Given the description of an element on the screen output the (x, y) to click on. 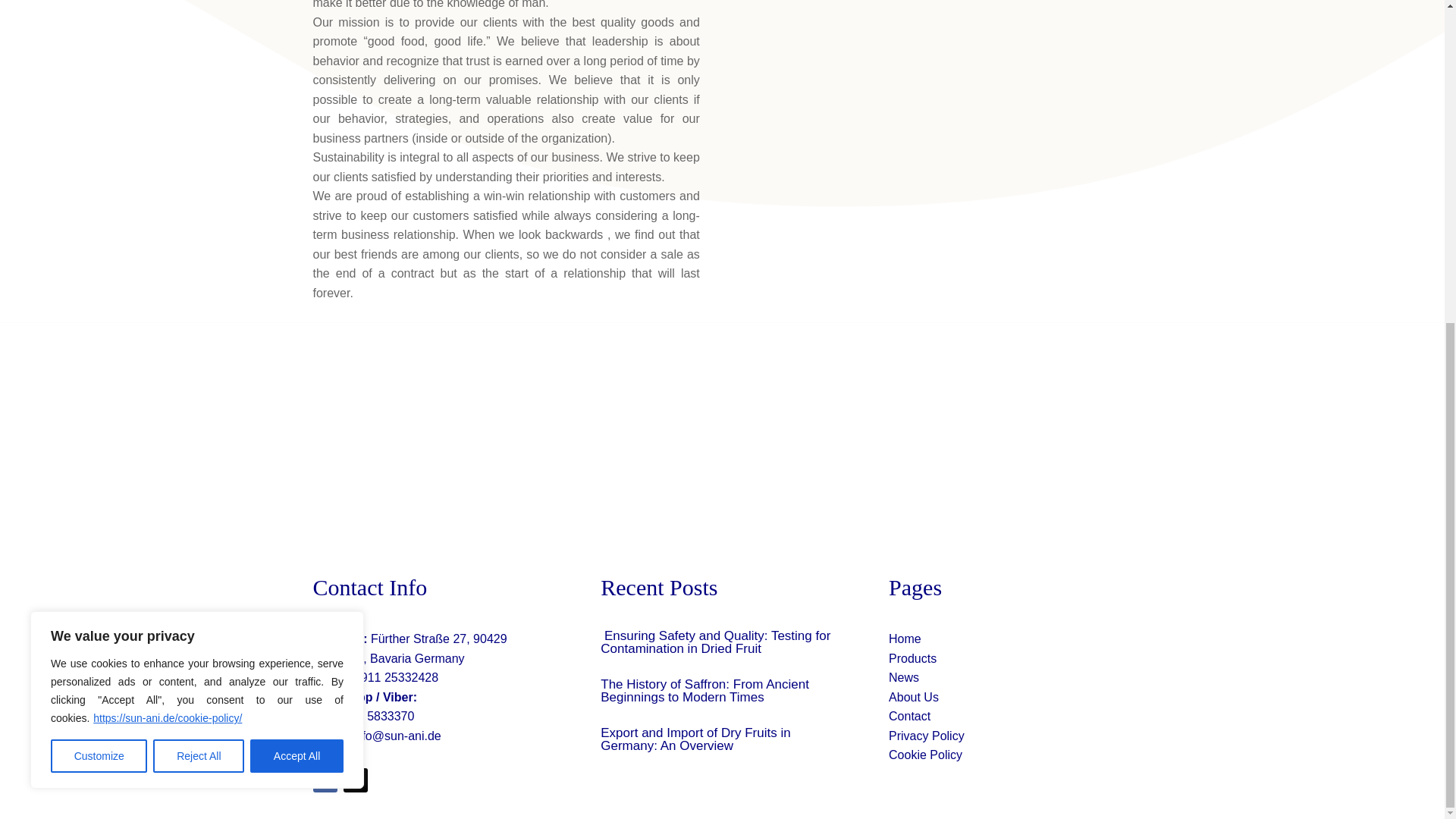
Follow on Facebook (324, 780)
Customize (98, 228)
Follow on X (354, 780)
Reject All (198, 228)
grapes5 (907, 68)
Accept All (296, 228)
